Given the description of an element on the screen output the (x, y) to click on. 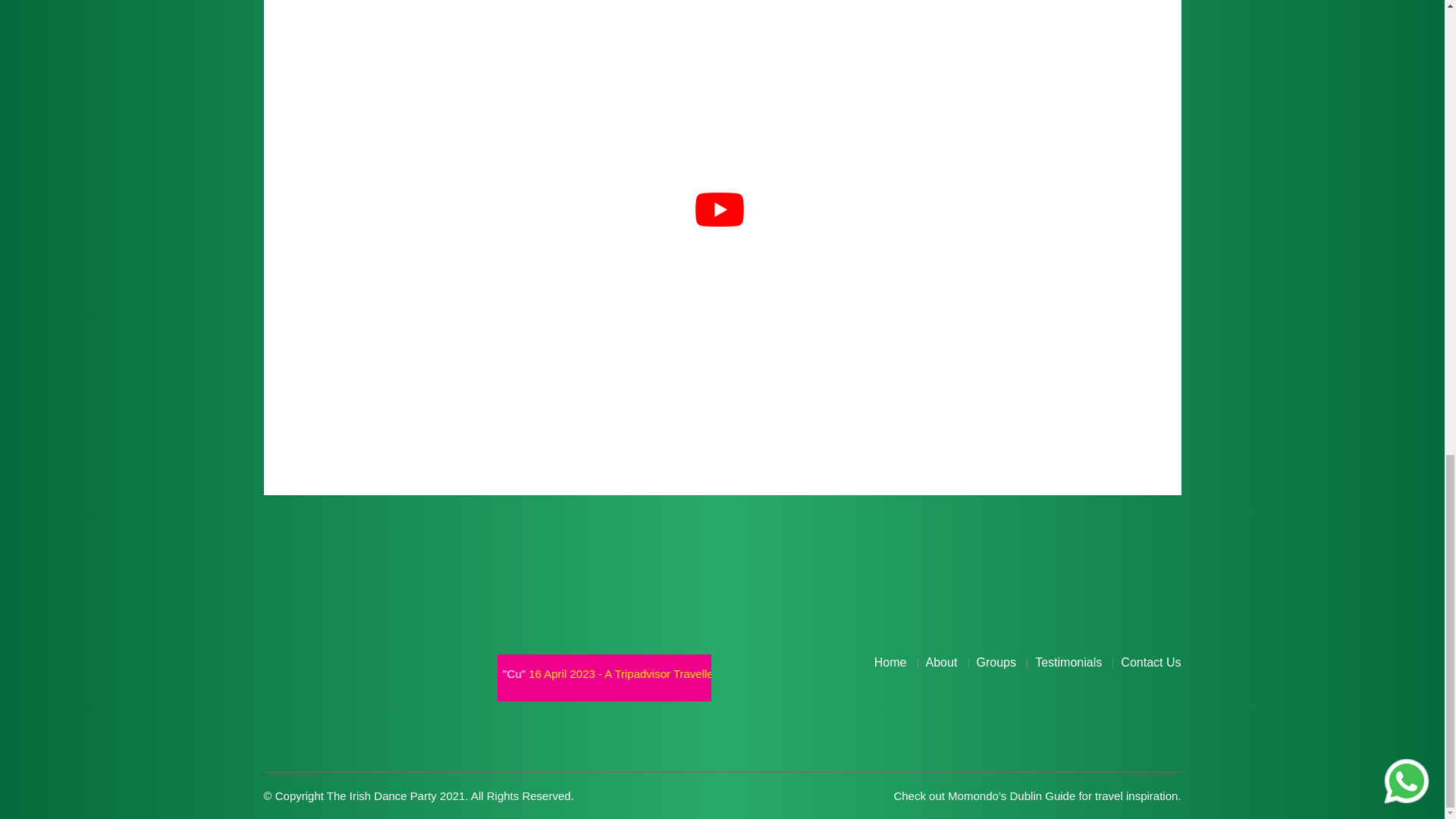
The Irish Dance Party (1053, 673)
Home (891, 662)
